Given the description of an element on the screen output the (x, y) to click on. 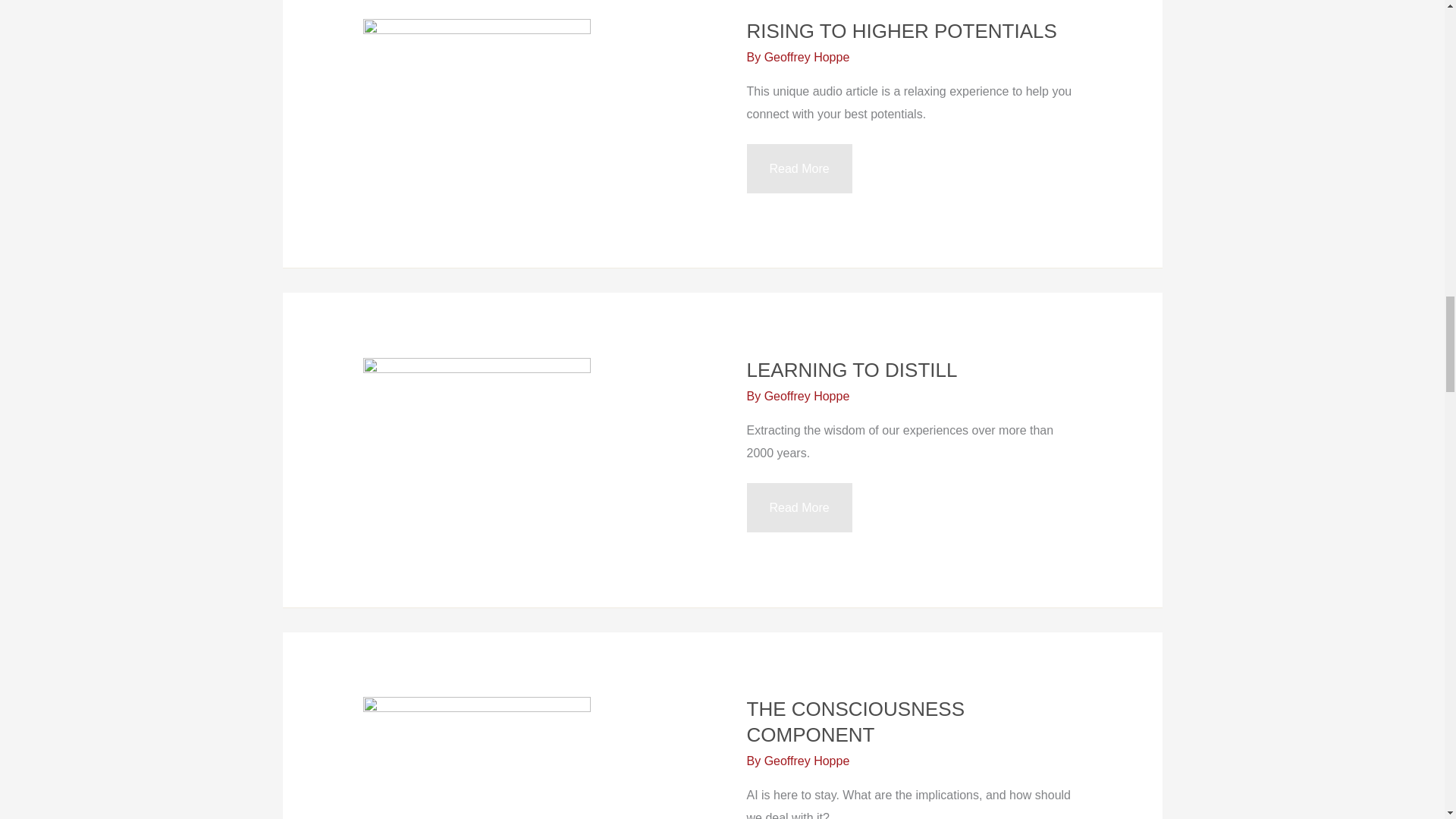
View all posts by Geoffrey Hoppe (807, 395)
View all posts by Geoffrey Hoppe (807, 760)
View all posts by Geoffrey Hoppe (807, 56)
